Given the description of an element on the screen output the (x, y) to click on. 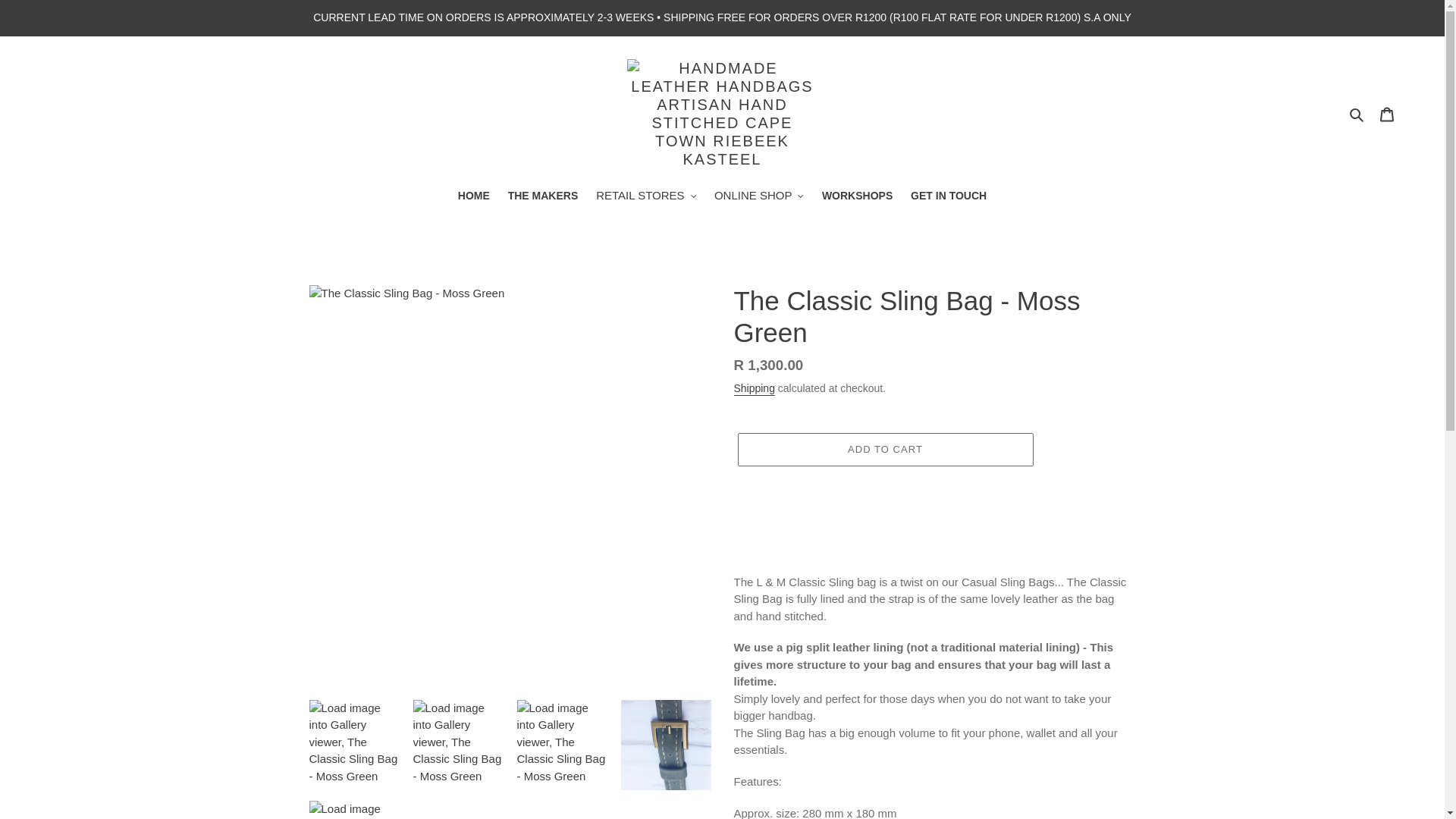
THE MAKERS (543, 197)
RETAIL STORES (645, 197)
HOME (473, 197)
Cart (1387, 113)
ONLINE SHOP (758, 197)
Search (1357, 113)
